Given the description of an element on the screen output the (x, y) to click on. 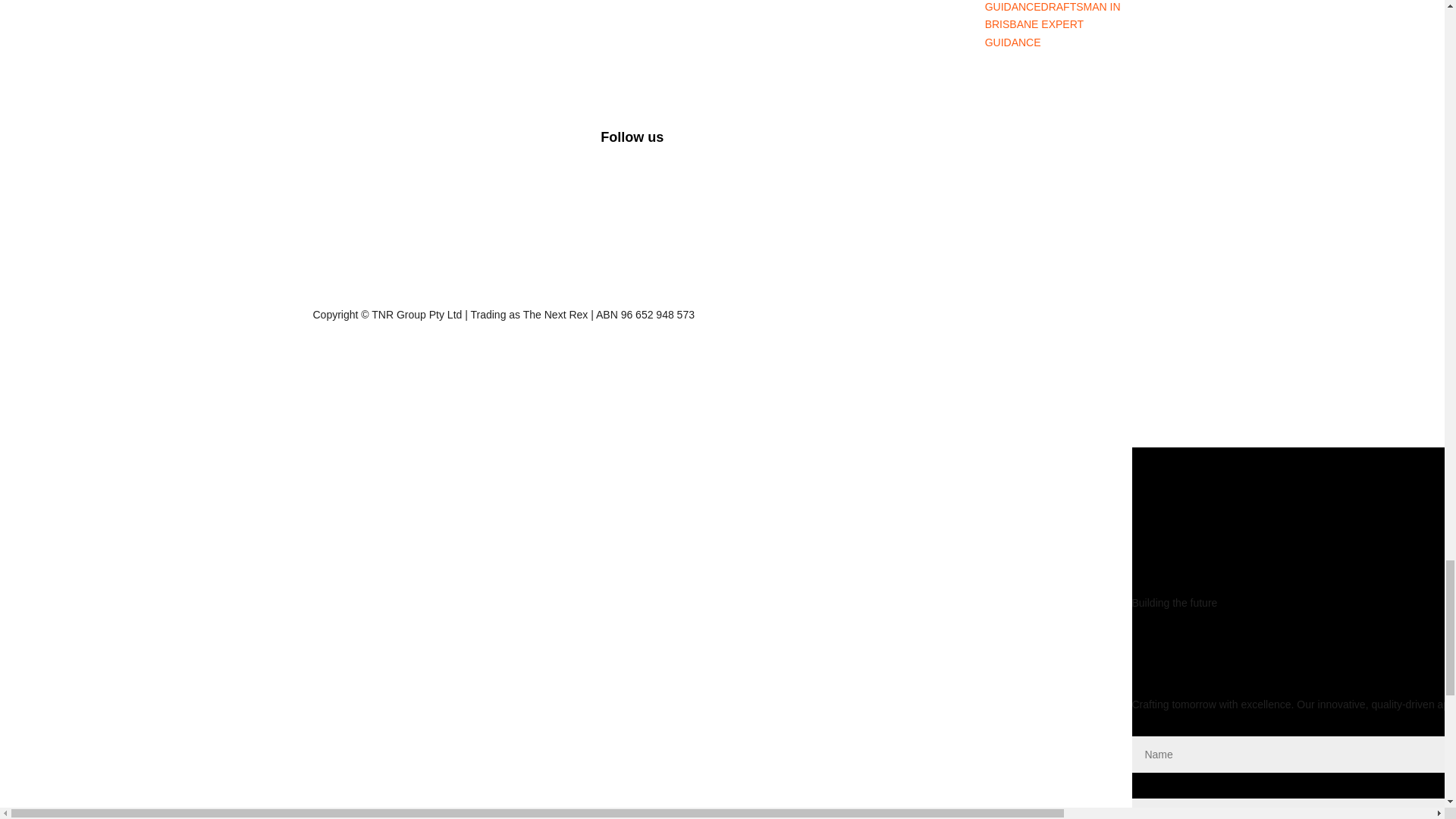
Follow on Youtube (988, 142)
Follow on LinkedIn (958, 142)
Follow on X (927, 142)
Follow on Facebook (897, 142)
